Given the description of an element on the screen output the (x, y) to click on. 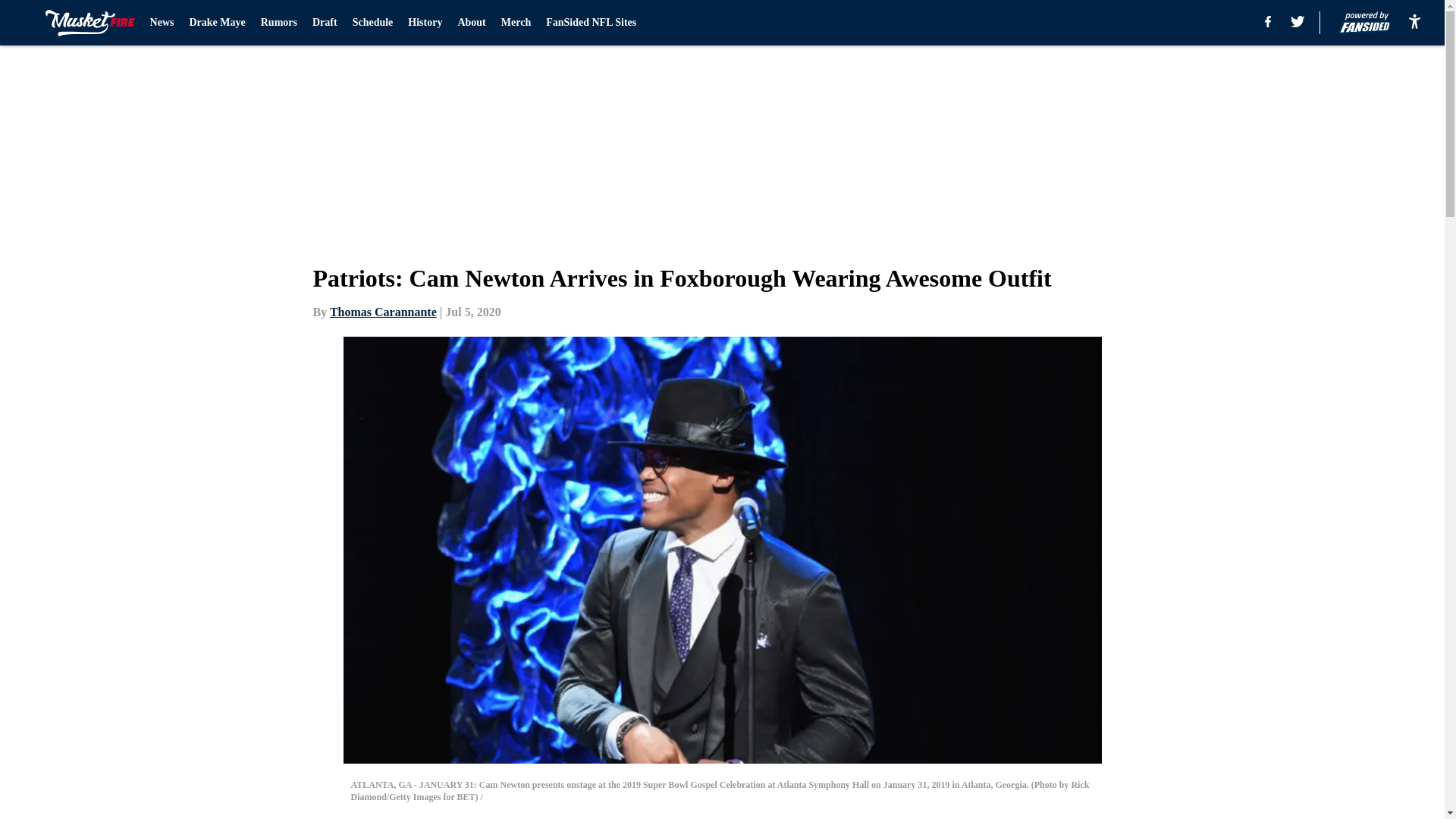
History (424, 22)
Draft (325, 22)
Drake Maye (216, 22)
News (161, 22)
Rumors (278, 22)
Merch (515, 22)
FanSided NFL Sites (591, 22)
About (470, 22)
Schedule (372, 22)
Thomas Carannante (383, 311)
